Given the description of an element on the screen output the (x, y) to click on. 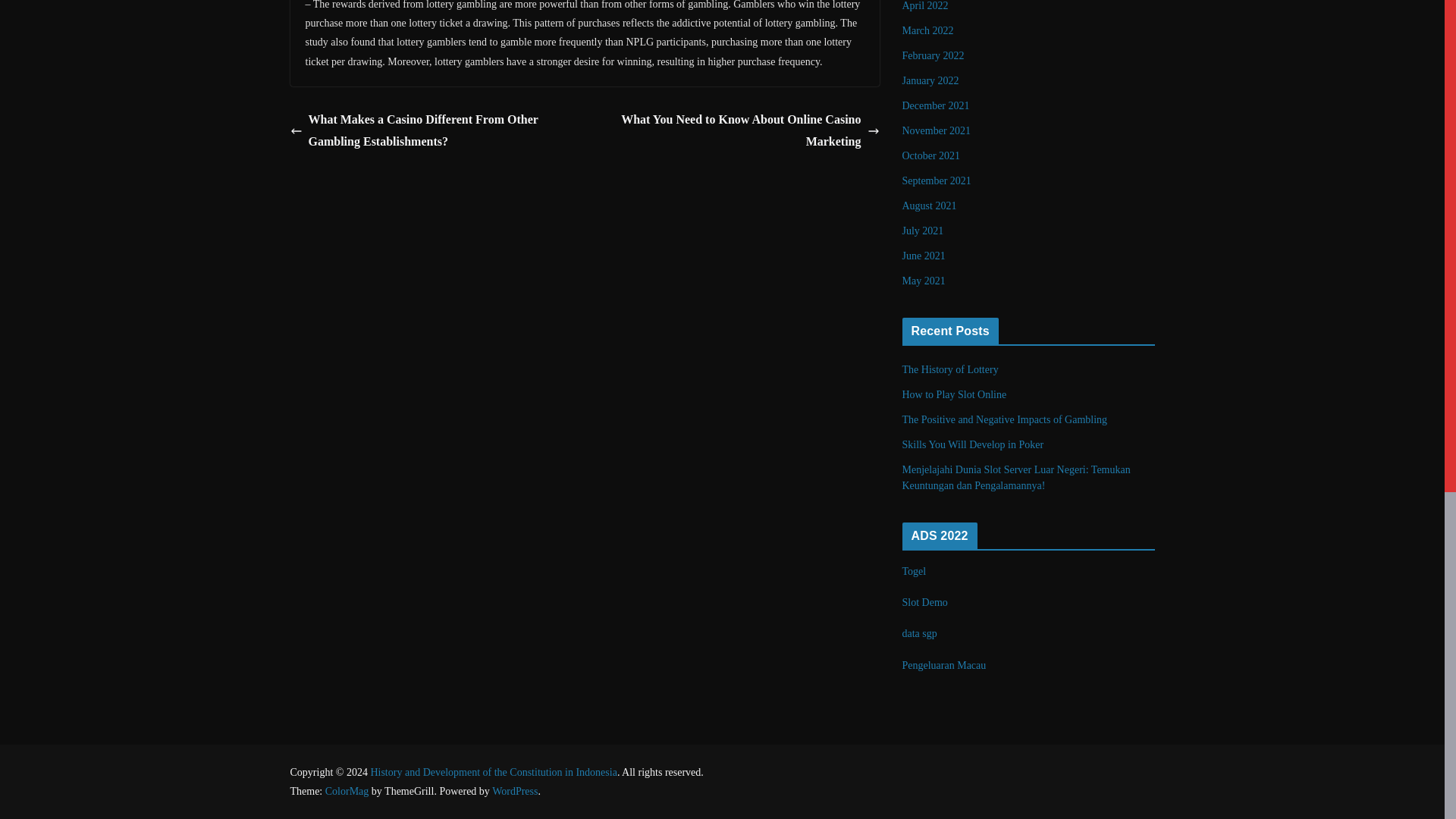
ColorMag (346, 790)
History and Development of the Constitution in Indonesia (492, 772)
What You Need to Know About Online Casino Marketing (735, 130)
WordPress (514, 790)
